Given the description of an element on the screen output the (x, y) to click on. 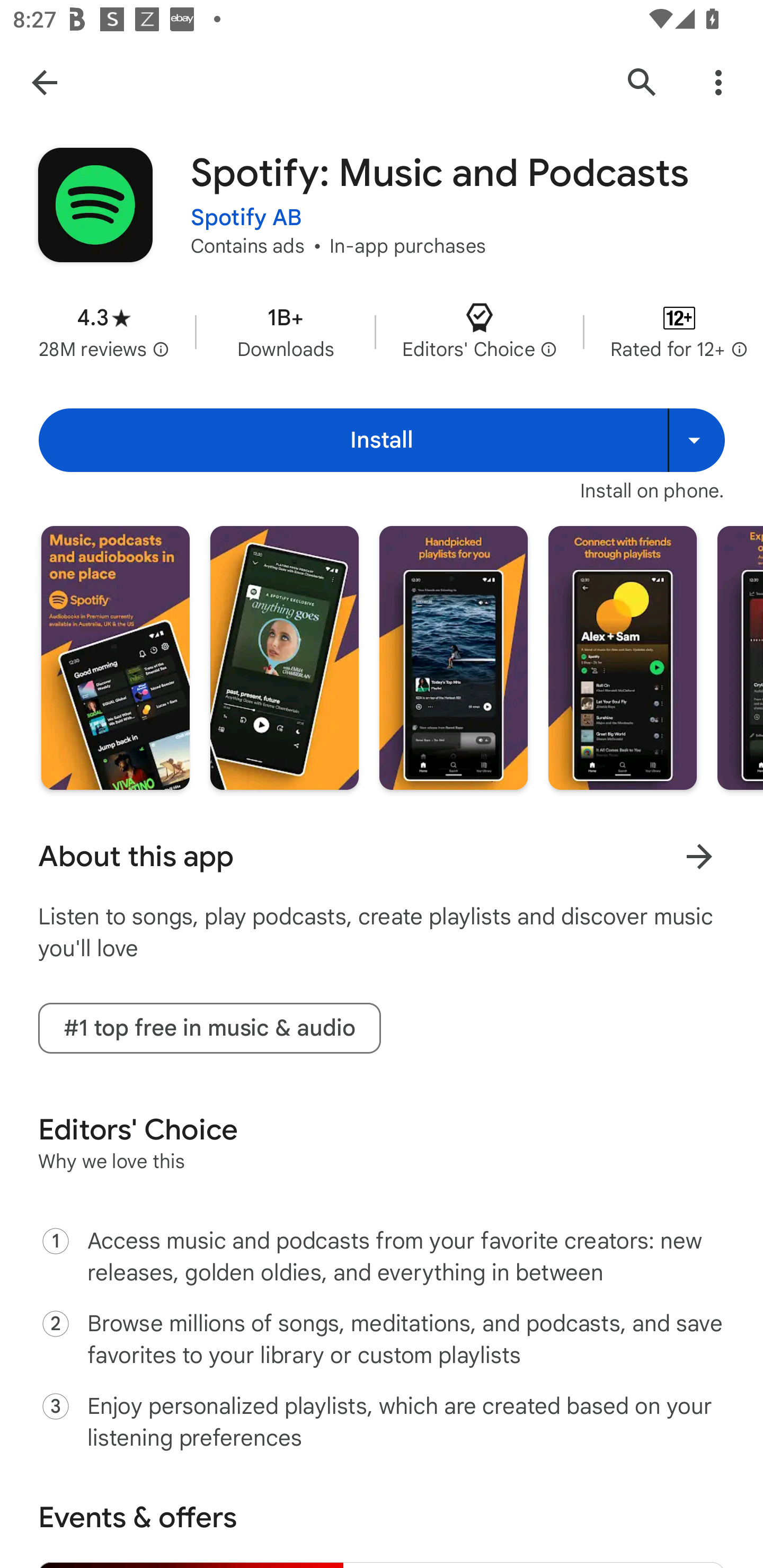
Navigate up (44, 81)
Search Google Play (642, 81)
More Options (718, 81)
Spotify AB (245, 206)
Average rating 4.3 stars in 28 million reviews (103, 331)
Editors' Choice (479, 331)
Content rating Rated for 12+ (678, 331)
Install Install Install on more devices (381, 439)
Install on more devices (695, 439)
Screenshot "1" of "8" (115, 657)
Screenshot "2" of "8" (284, 657)
Screenshot "3" of "8" (453, 657)
Screenshot "4" of "8" (622, 657)
About this app Learn more About this app (381, 856)
Learn more About this app (699, 856)
#1 top free in music & audio tag (209, 1027)
